Given the description of an element on the screen output the (x, y) to click on. 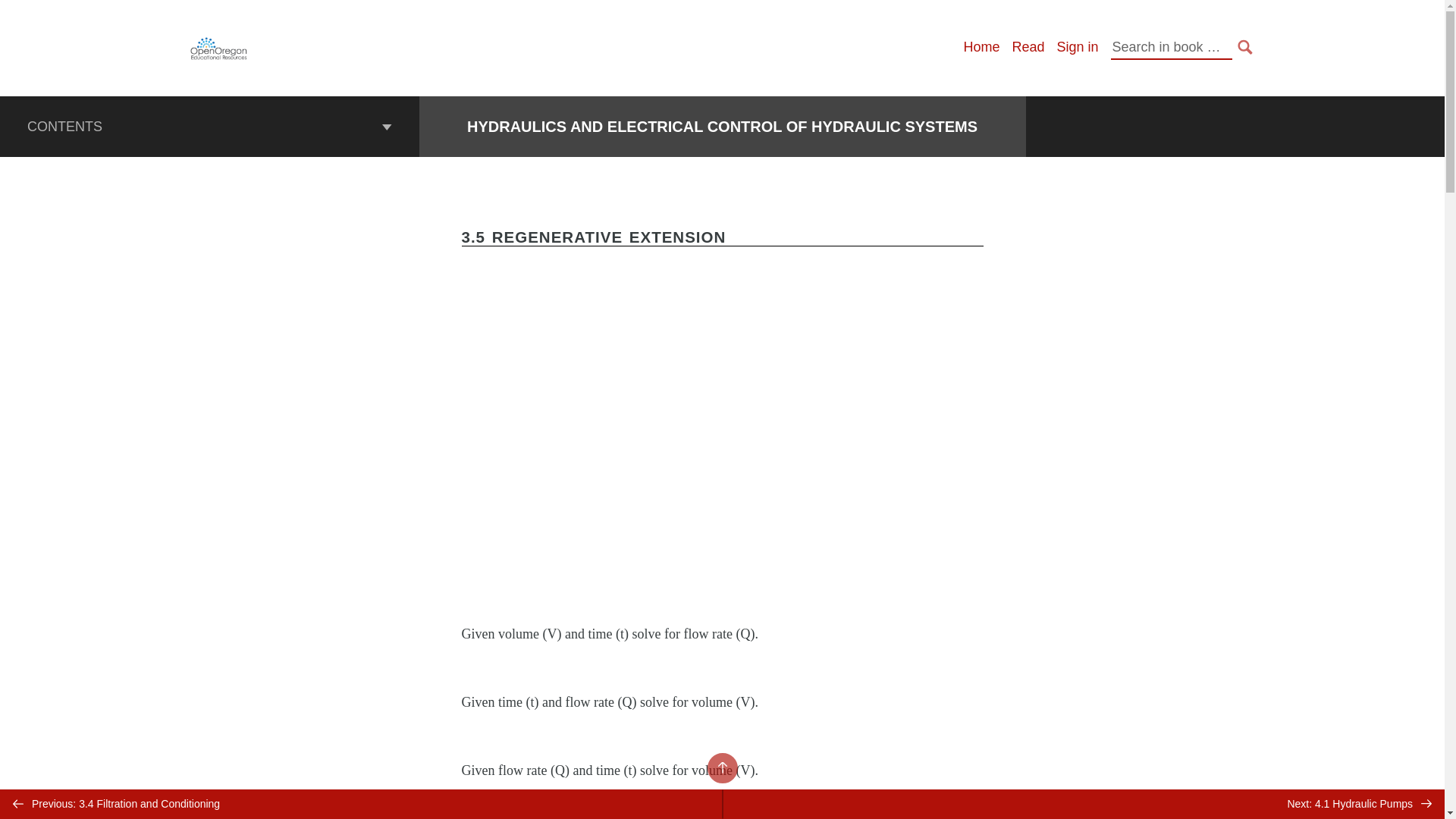
Home (980, 46)
Sign in (1077, 46)
HYDRAULICS AND ELECTRICAL CONTROL OF HYDRAULIC SYSTEMS (721, 126)
Read (1027, 46)
Previous: 3.4 Filtration and Conditioning (361, 804)
BACK TO TOP (721, 767)
Previous: 3.4 Filtration and Conditioning (361, 804)
CONTENTS (209, 126)
